Given the description of an element on the screen output the (x, y) to click on. 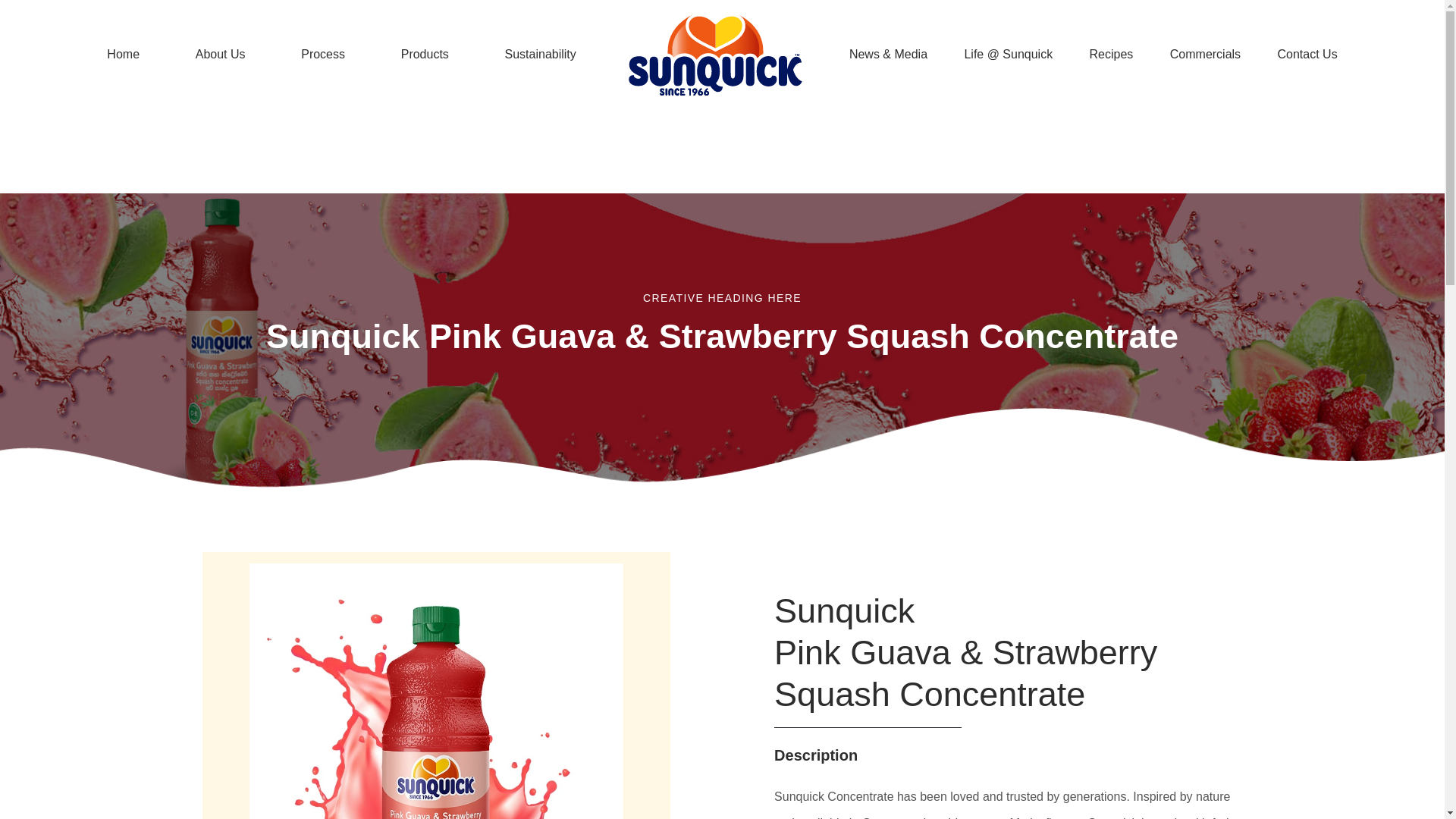
Contact Us (655, 153)
Products (424, 54)
Recipes (1111, 54)
About Us (73, 153)
Commercials (1204, 54)
Contact Us (1306, 54)
Commercials (579, 153)
Sustainability (540, 54)
Recipes (1111, 54)
Products (186, 153)
